Given the description of an element on the screen output the (x, y) to click on. 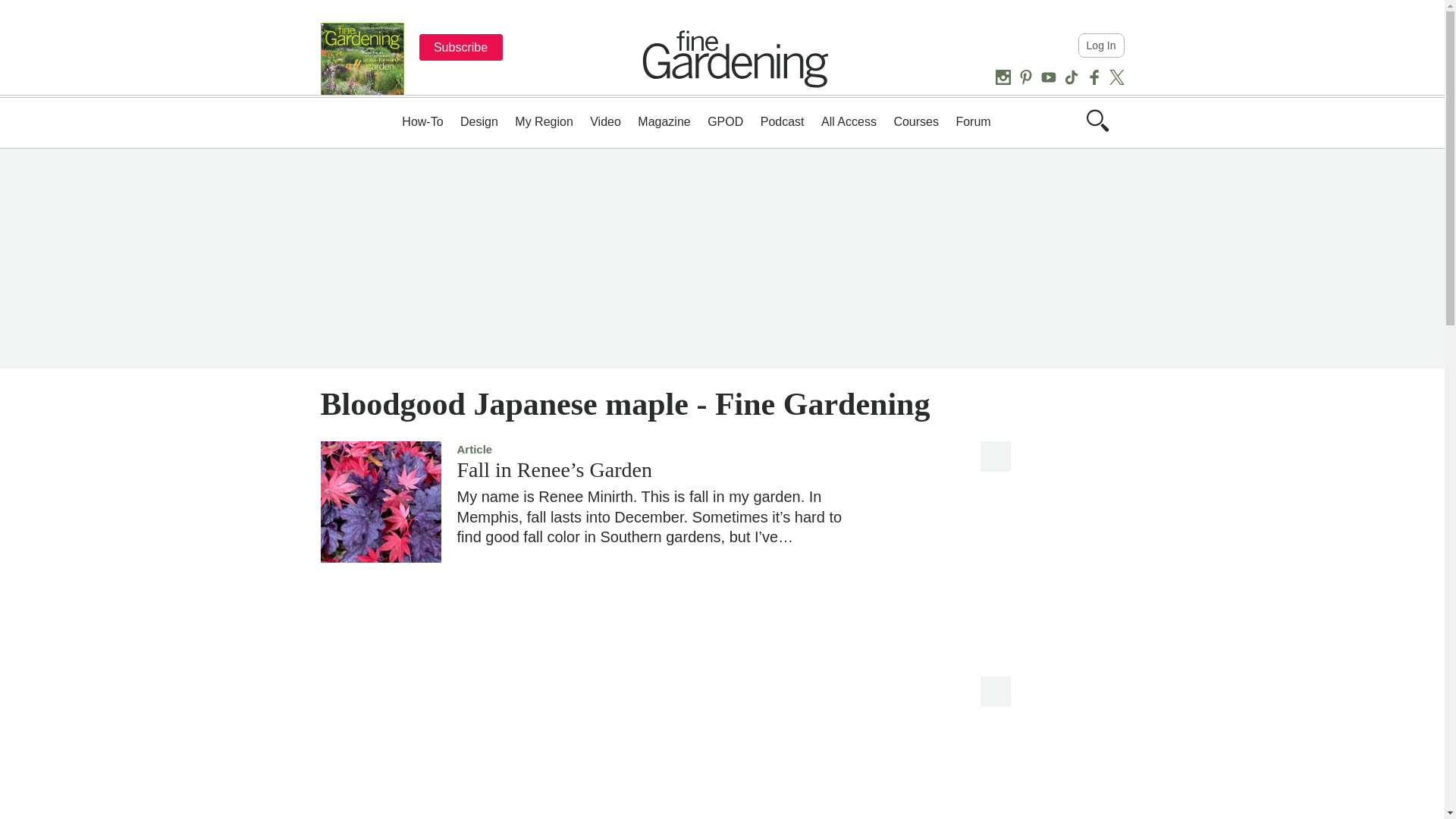
My Region (543, 121)
Instragram (1002, 77)
Fine Gardening (735, 58)
Twitter (1116, 77)
Courses (916, 121)
YouTube (1048, 77)
Facebook (1093, 77)
Video (605, 121)
All Access (848, 121)
Podcast (782, 121)
